Given the description of an element on the screen output the (x, y) to click on. 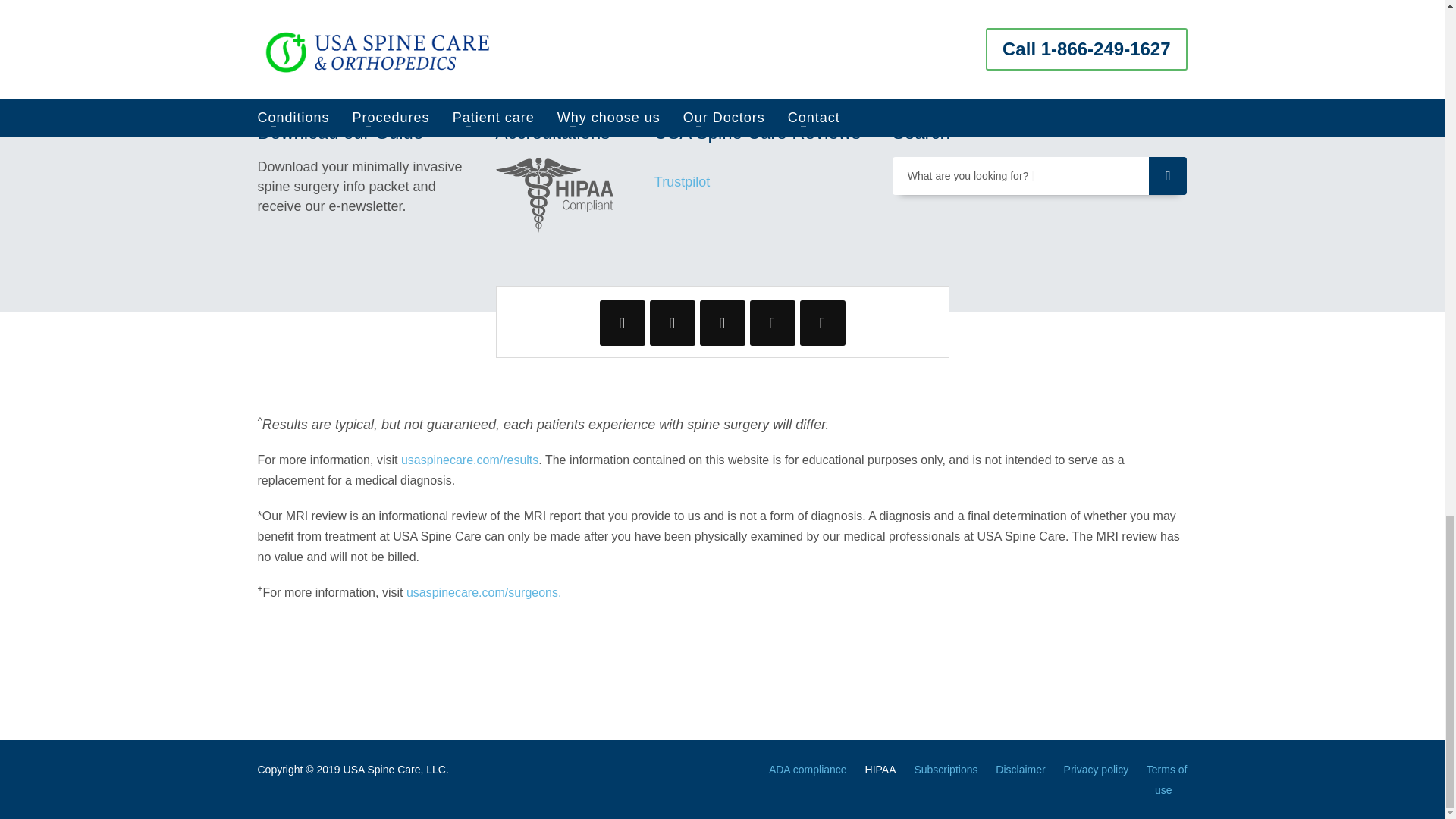
HIPAA Compliant (555, 194)
